Given the description of an element on the screen output the (x, y) to click on. 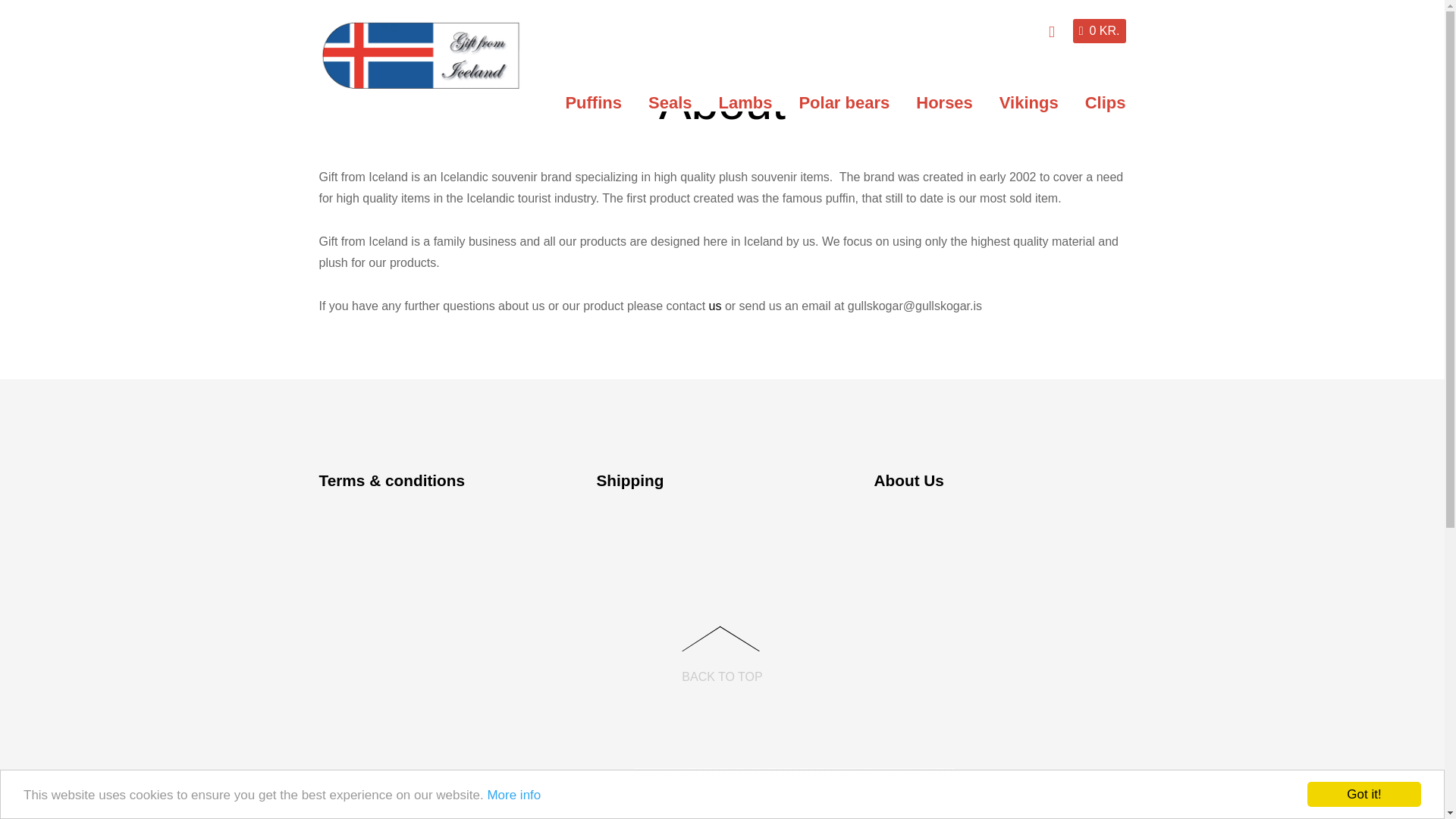
Seals (670, 101)
Polar bears (844, 101)
Vikings (1029, 101)
About Us (908, 479)
BACK TO TOP (721, 648)
Lambs (744, 101)
Gift from Iceland (419, 81)
Horses (944, 101)
Puffins (593, 101)
us (715, 305)
Shipping (629, 479)
Gift from Iceland (419, 54)
Clips (1105, 101)
0 KR. (1099, 30)
